Given the description of an element on the screen output the (x, y) to click on. 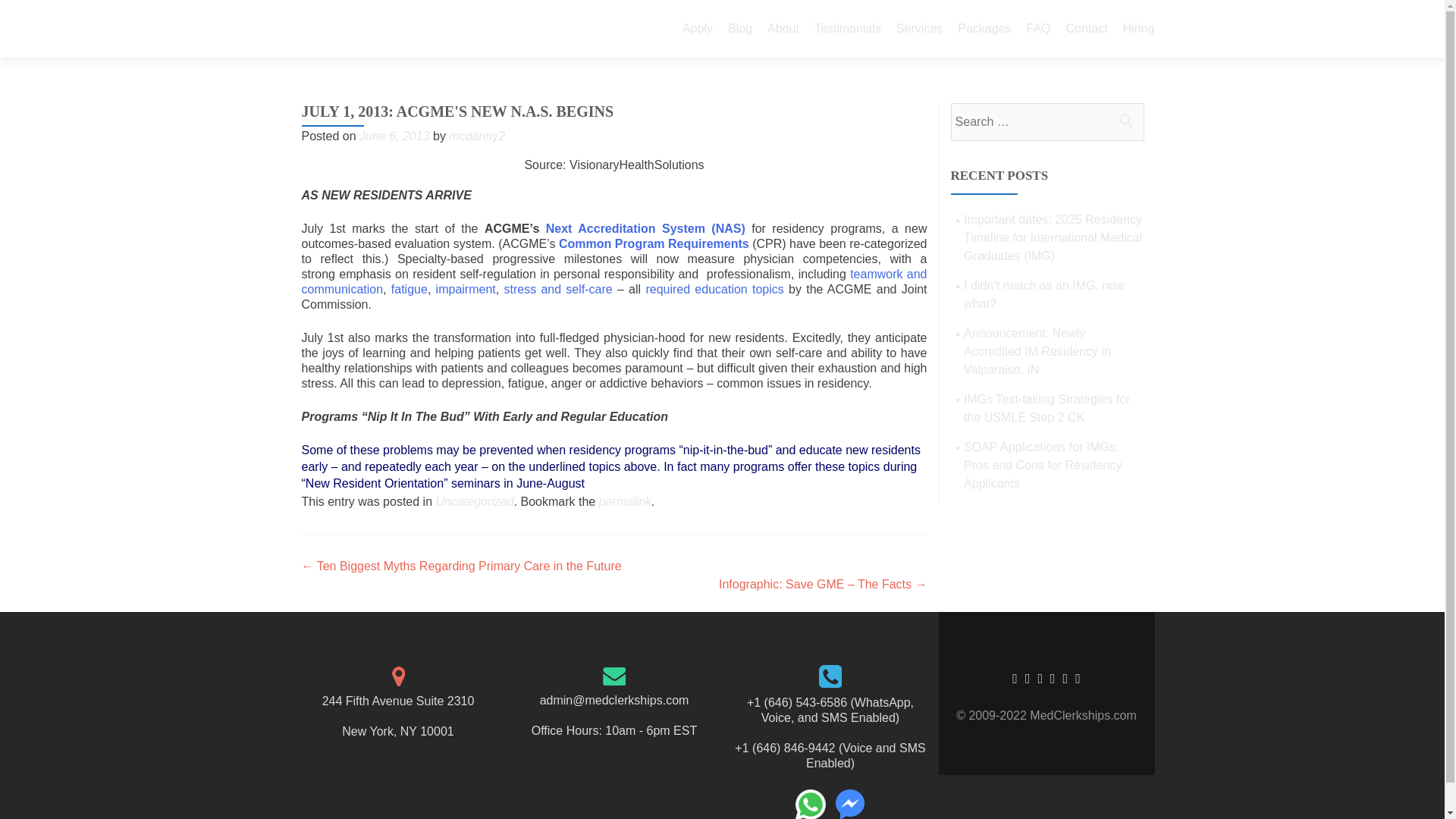
Apply (697, 28)
Search (1125, 120)
Hiring (1138, 28)
required education topics (714, 288)
permalink (624, 501)
FB Messenger Us (849, 802)
stress and self-care (557, 288)
About (783, 28)
teamwork and communication (614, 281)
June 6, 2013 (394, 135)
Search (1125, 120)
IMGs Test-taking Strategies for the USMLE Step 2 CK (1046, 408)
Blog (740, 28)
Testimonials (846, 28)
